Given the description of an element on the screen output the (x, y) to click on. 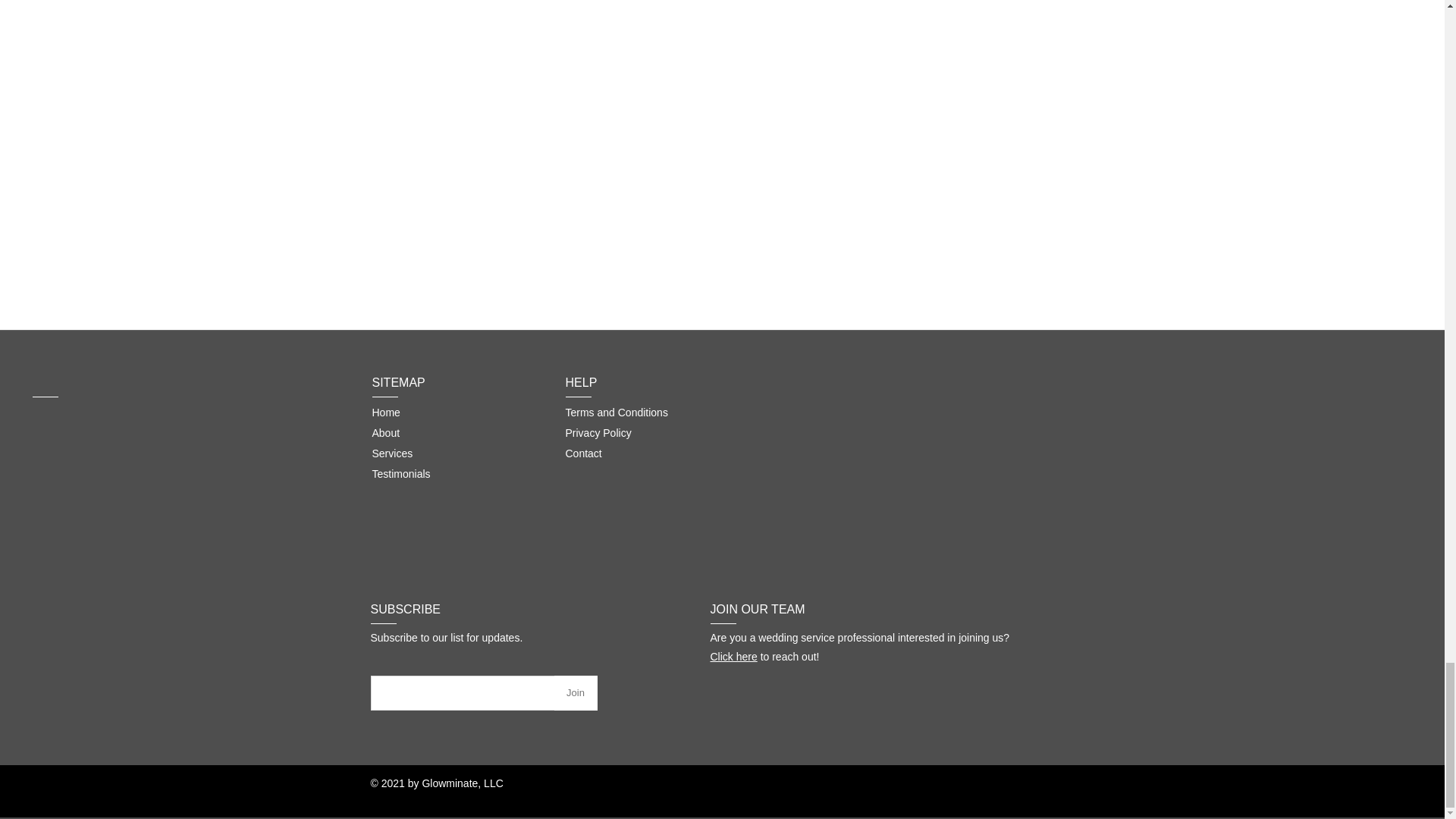
Home (384, 412)
Join (574, 692)
Terms and Conditions (617, 412)
About (384, 432)
Contact (584, 453)
Services (391, 453)
Privacy Policy (598, 432)
Testimonials (400, 472)
Click here (733, 656)
